Given the description of an element on the screen output the (x, y) to click on. 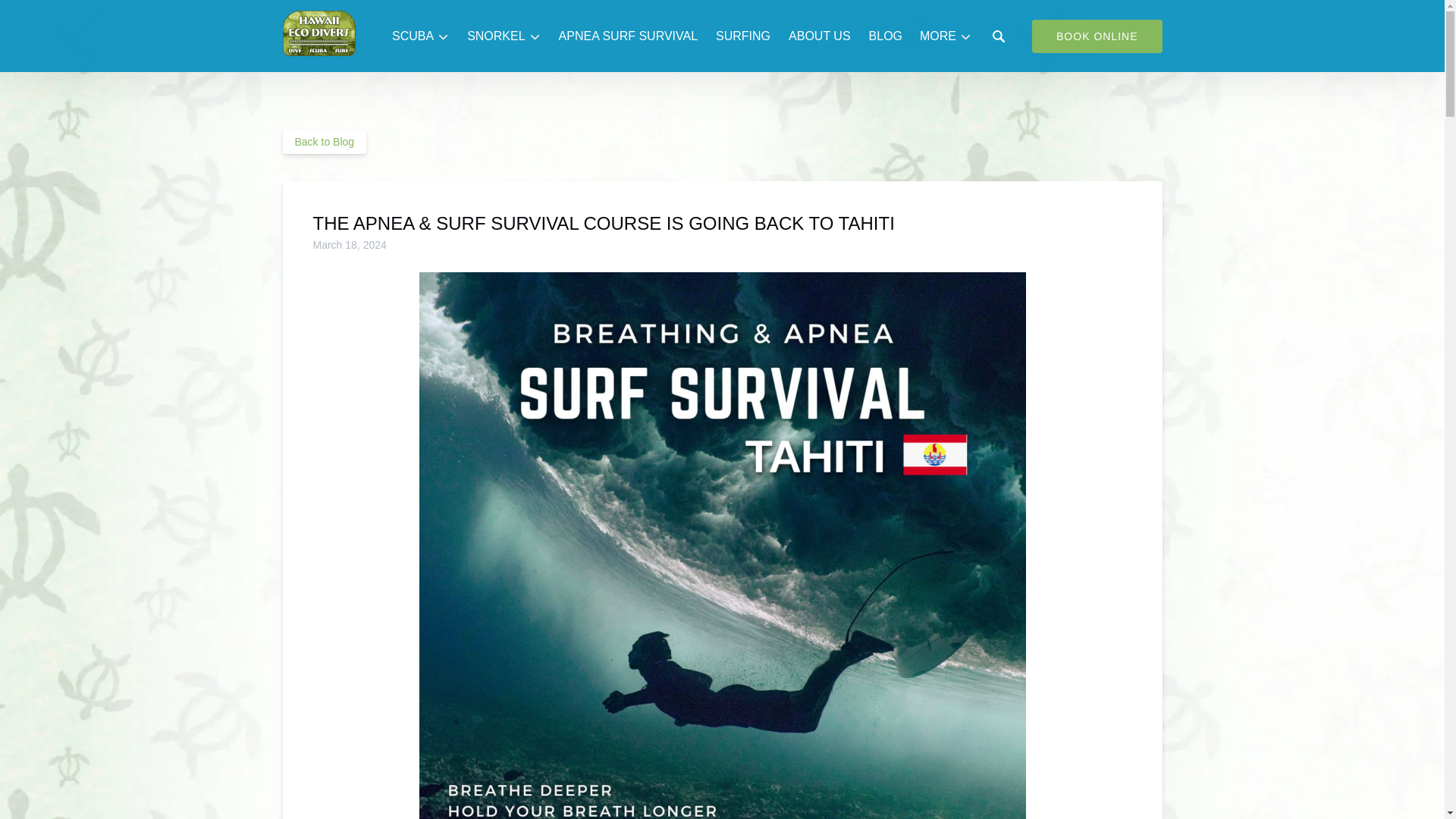
Back to Blog (324, 141)
Open More Menu (948, 32)
Skip to footer (42, 16)
Open SNORKEL Menu (506, 32)
BLOG (885, 35)
Skip to primary navigation (77, 16)
Open SCUBA Menu (424, 32)
ABOUT US (819, 35)
SNORKEL (503, 35)
APNEA SURF SURVIVAL (628, 35)
SCUBA (420, 35)
MORE (945, 35)
BOOK ONLINE (1096, 36)
SURFING (742, 35)
Skip to content (47, 16)
